Given the description of an element on the screen output the (x, y) to click on. 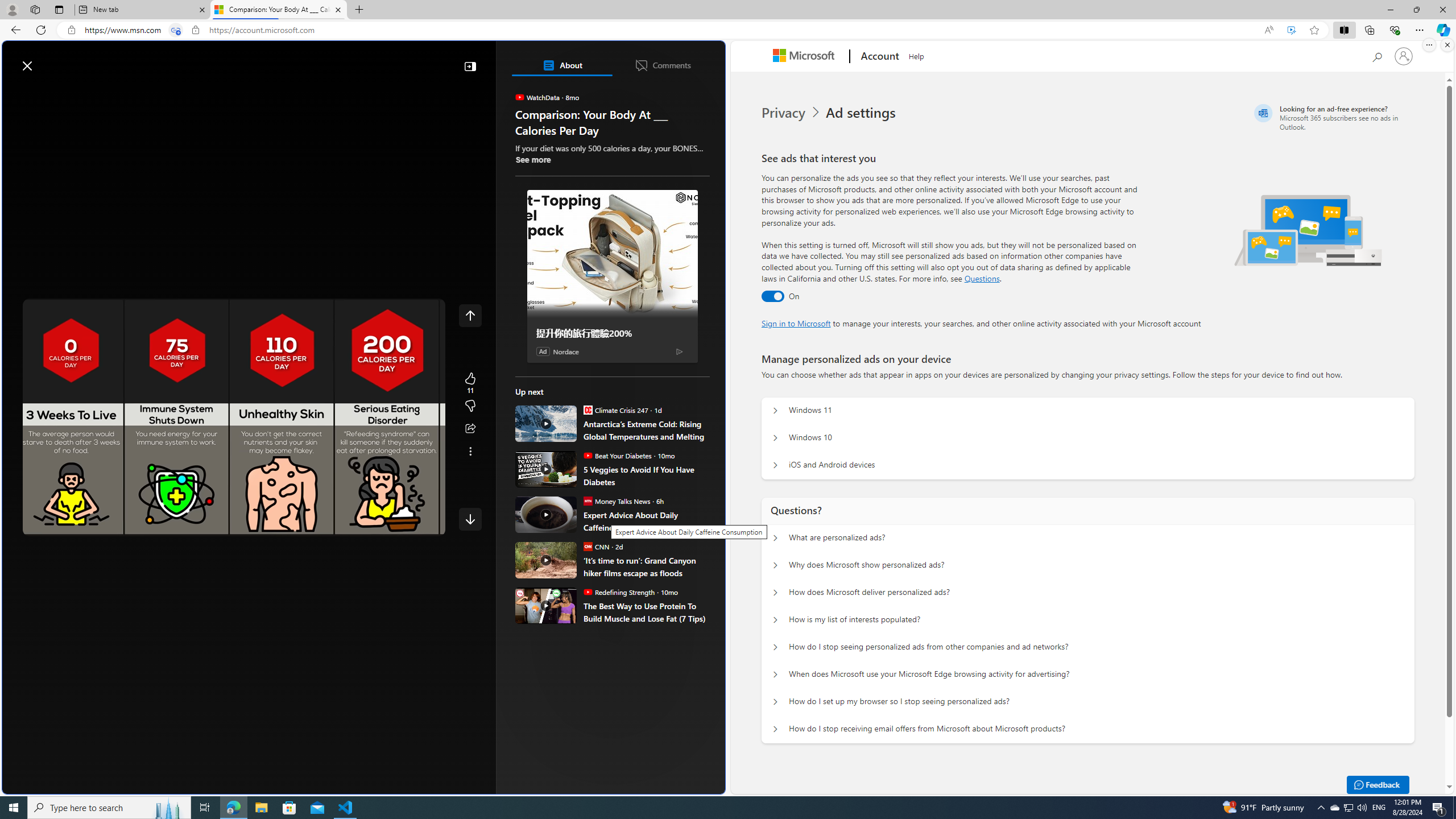
Microsoft rewards (654, 60)
Restore (1416, 9)
Comments (662, 64)
Pause (k) (42, 525)
Watch on YouTube (396, 525)
Ad settings (862, 112)
Redefining Strength (587, 591)
Manage personalized ads on your device Windows 10 (775, 437)
Notifications (676, 60)
Class: control (469, 518)
Skip to footer (46, 59)
